Given the description of an element on the screen output the (x, y) to click on. 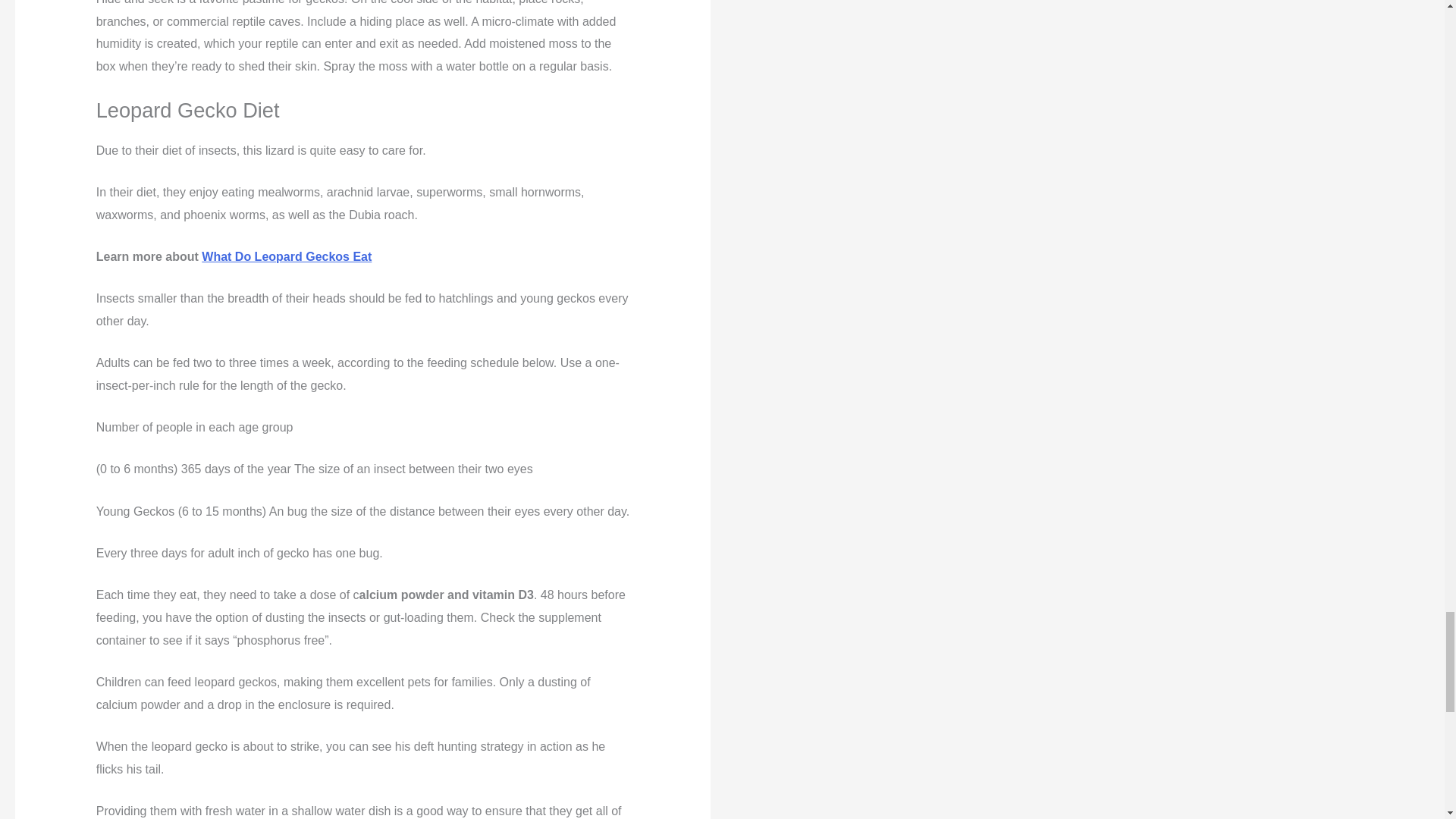
What Do Leopard Geckos Eat (286, 256)
